Given the description of an element on the screen output the (x, y) to click on. 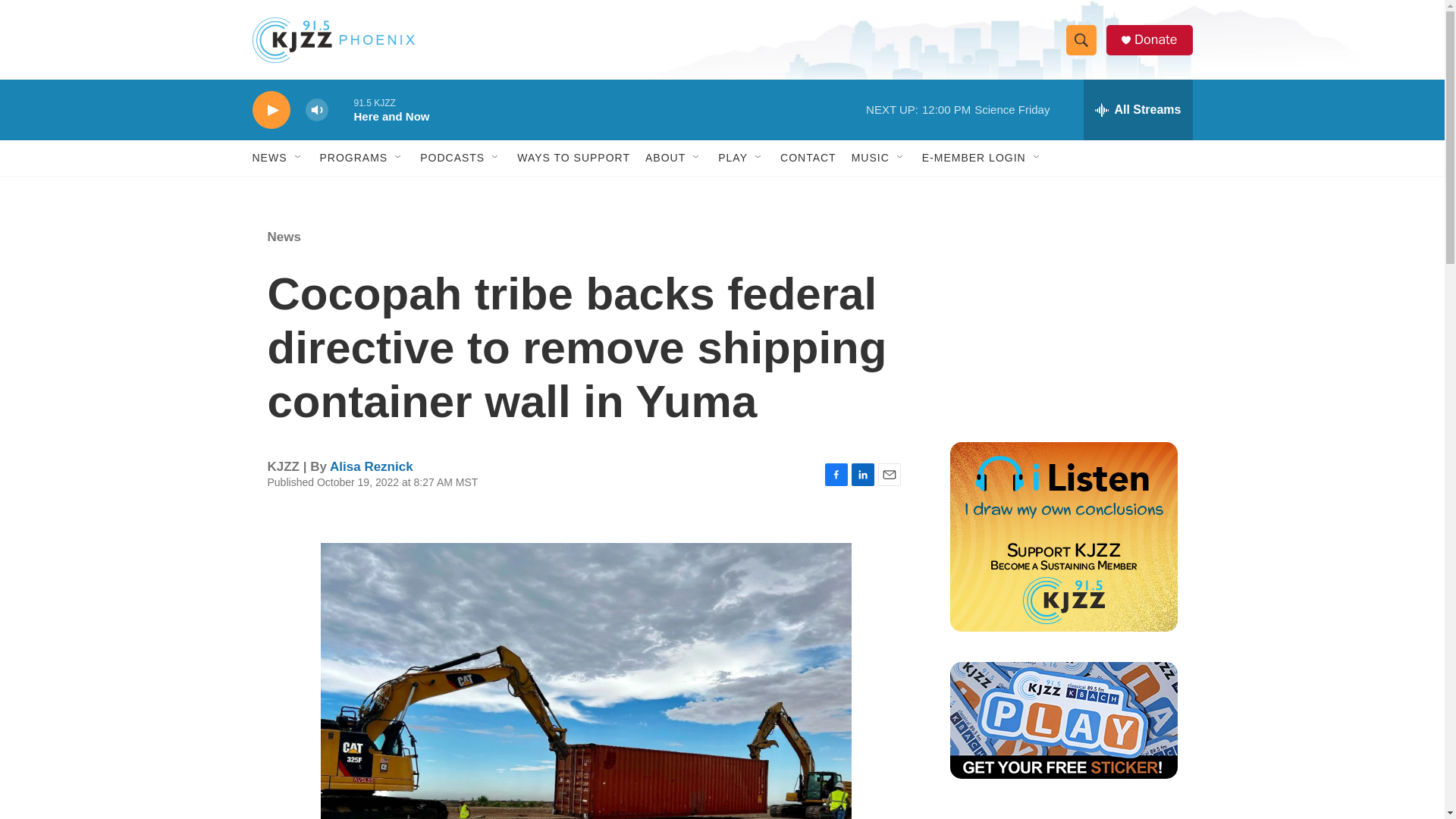
3rd party ad content (1062, 316)
3rd party ad content (1062, 814)
